Given the description of an element on the screen output the (x, y) to click on. 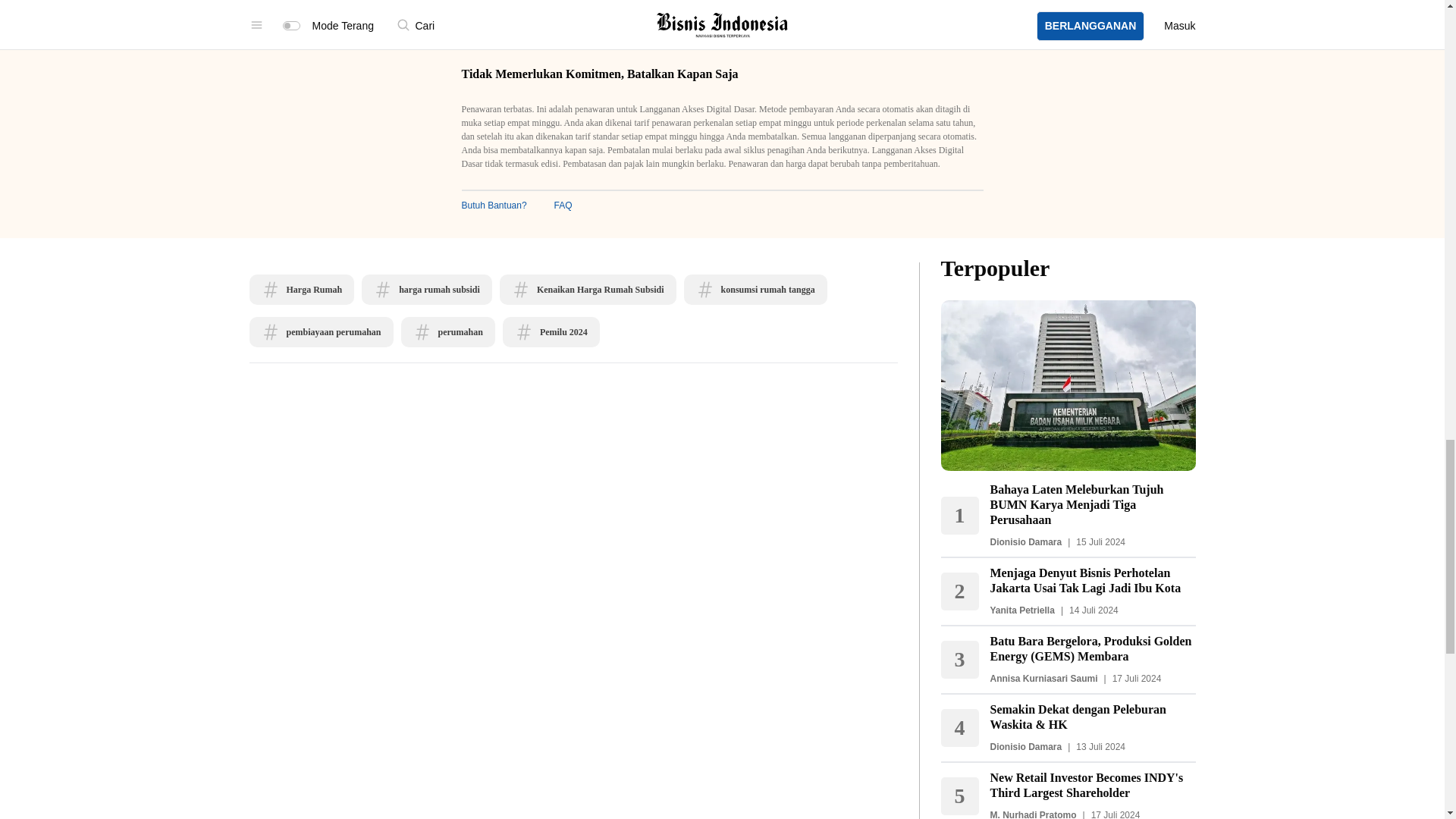
FAQ (563, 204)
Butuh Bantuan? (493, 204)
